Given the description of an element on the screen output the (x, y) to click on. 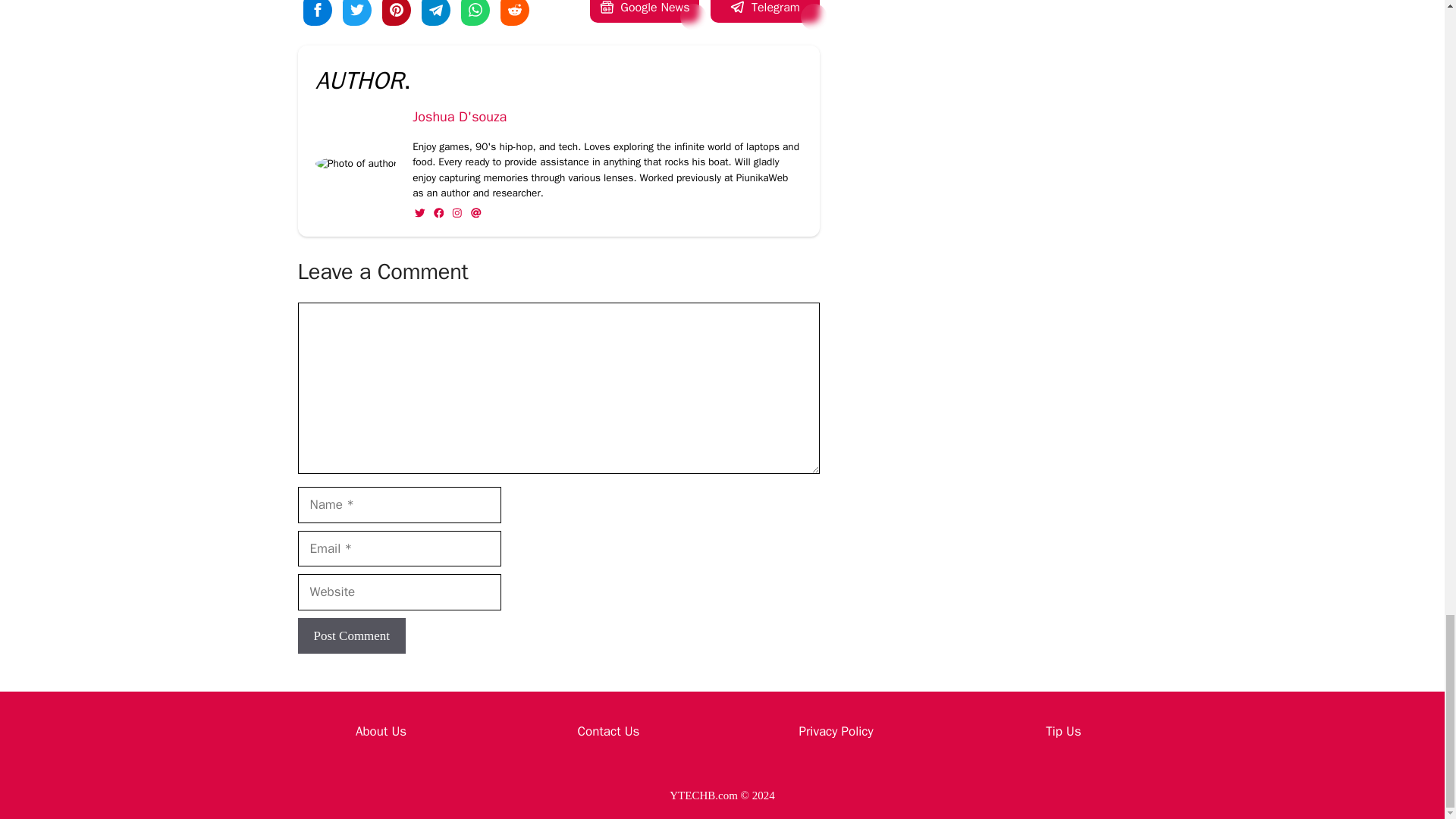
Post Comment (351, 636)
